Given the description of an element on the screen output the (x, y) to click on. 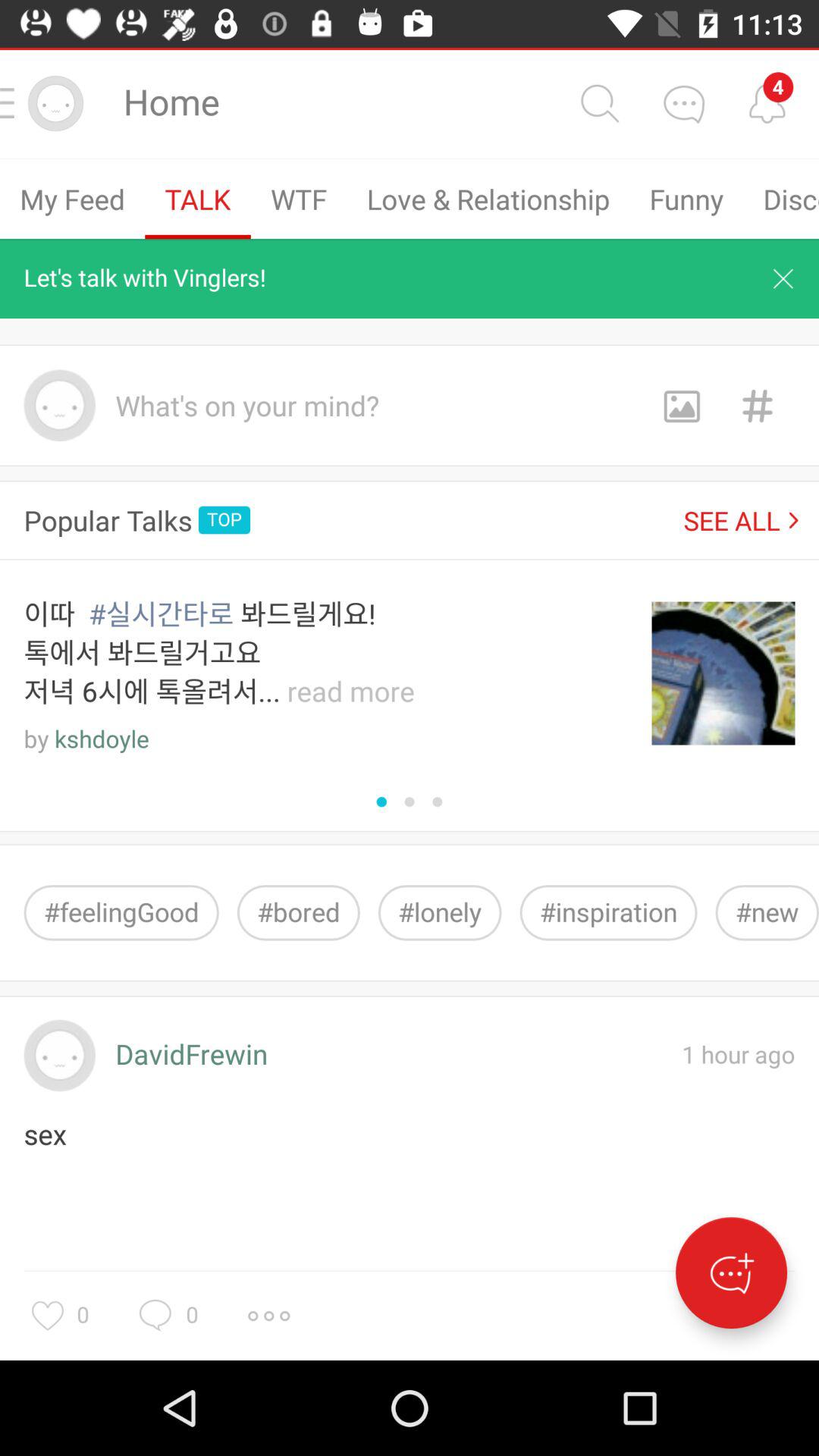
tap item next to the top icon (741, 520)
